Given the description of an element on the screen output the (x, y) to click on. 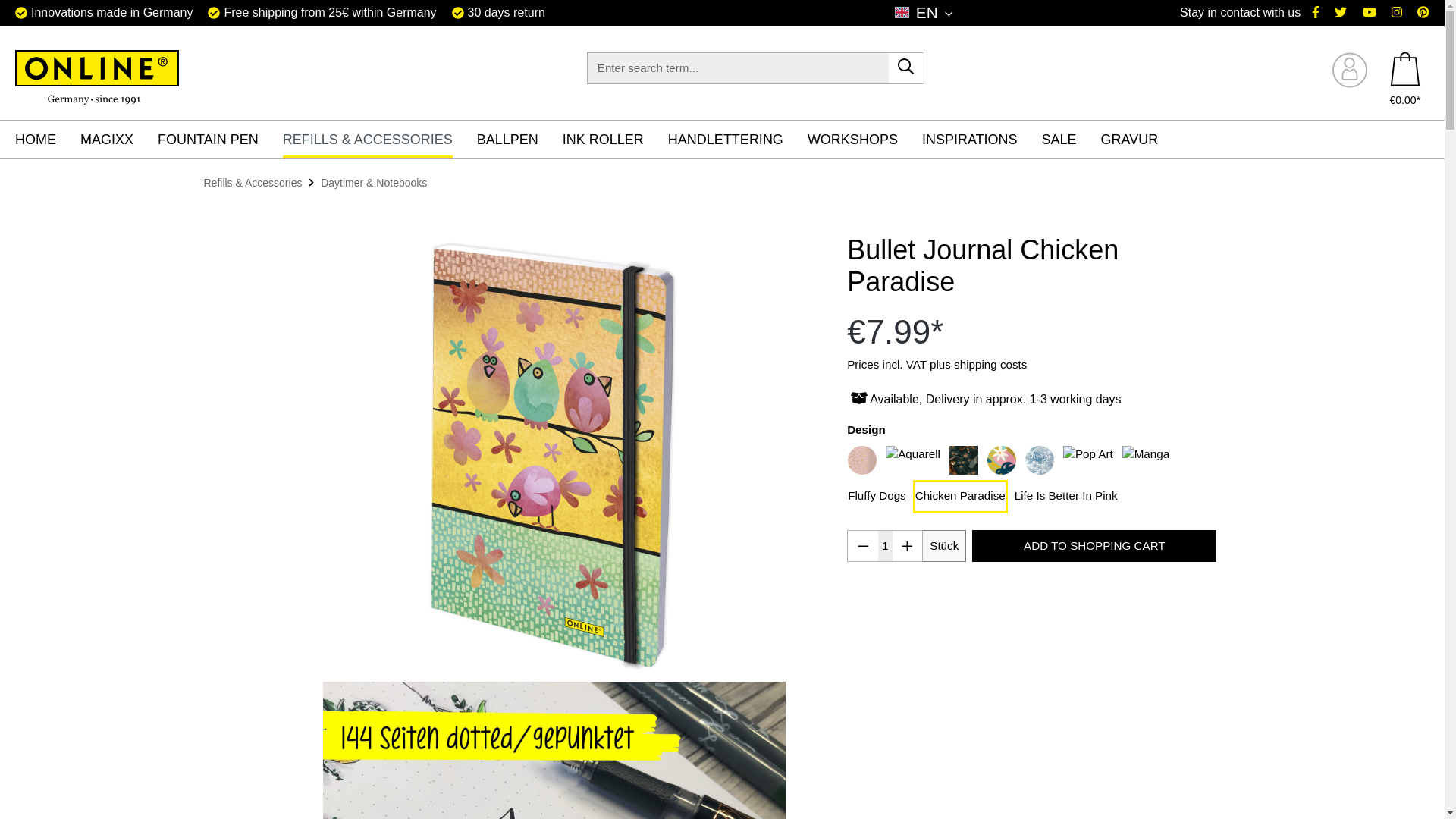
My account (1349, 69)
FOUNTAIN PEN (219, 139)
MAGIXX (118, 139)
HANDLETTERING (738, 139)
Go to homepage (96, 76)
Youtube (1368, 11)
SALE (1071, 139)
magiXX (118, 139)
HOME (47, 139)
WORKSHOPS (864, 139)
Home (47, 139)
Twitter (1340, 11)
INSPIRATIONS (981, 139)
EN (924, 11)
GRAVUR (1141, 139)
